Given the description of an element on the screen output the (x, y) to click on. 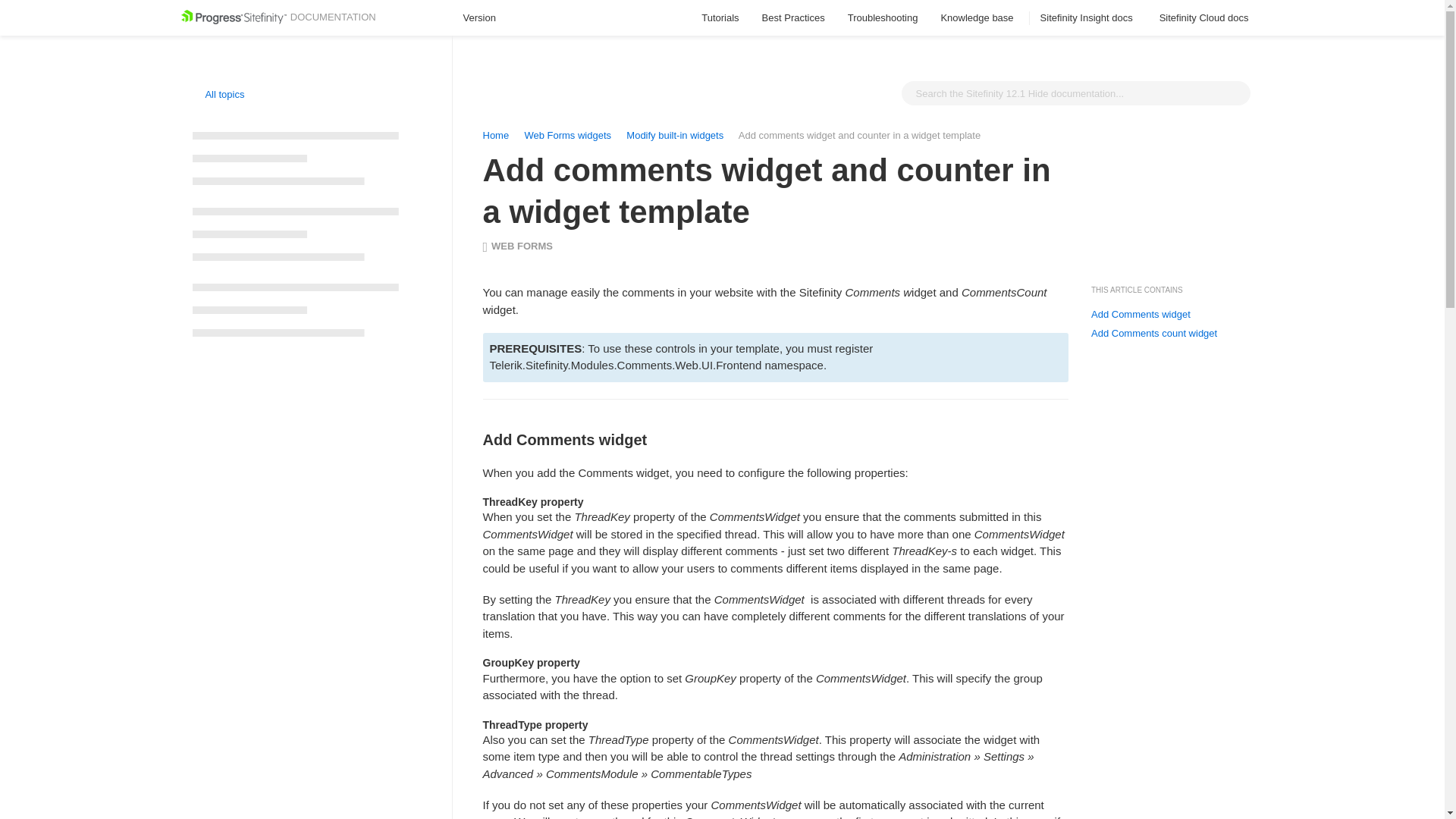
Sitefinity Insight docs (1088, 18)
All topics (218, 93)
Add Comments count widget (1153, 333)
Home (494, 134)
Version (486, 18)
Search (1234, 93)
Tutorials (719, 18)
DOCUMENTATION (277, 16)
Knowledge base (977, 18)
Sitefinity Cloud docs (1205, 18)
Troubleshooting (882, 18)
Add Comments widget (1140, 314)
Modify built-in widgets (676, 134)
Best Practices (793, 18)
Web Forms widgets (567, 134)
